Given the description of an element on the screen output the (x, y) to click on. 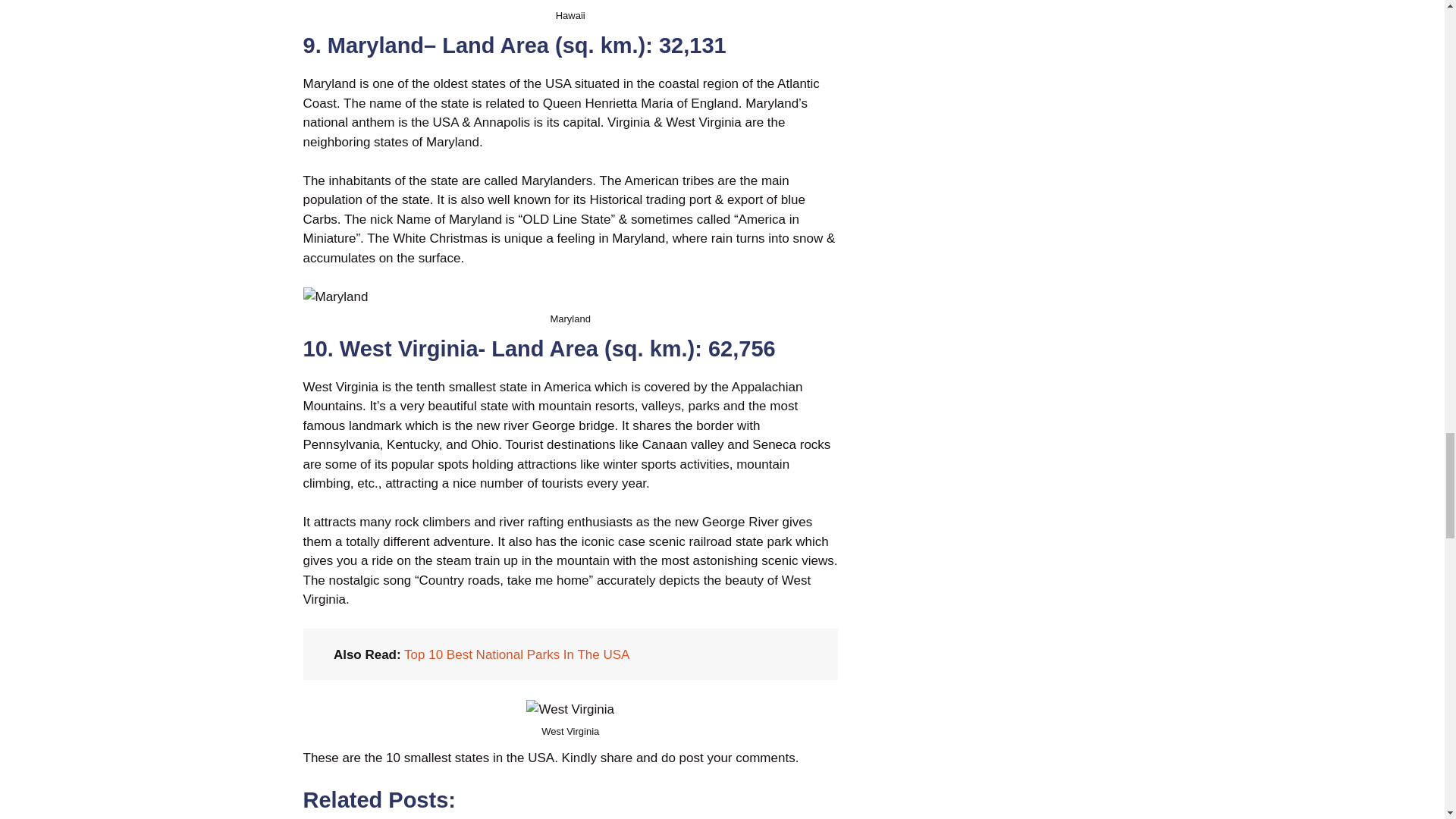
Top 10 Best National Parks In The USA (516, 654)
